Given the description of an element on the screen output the (x, y) to click on. 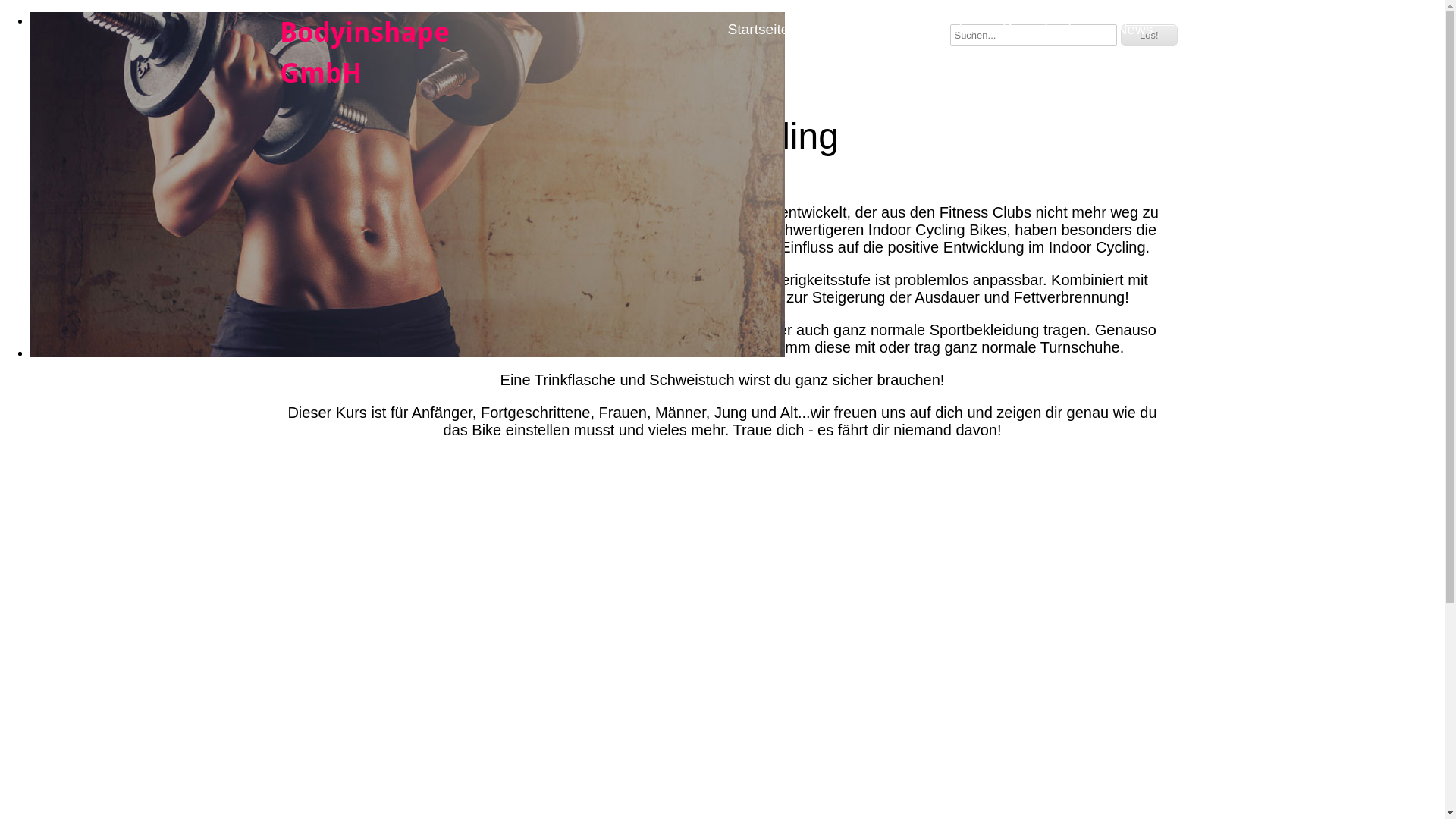
Bodyinshape
GmbH Element type: text (363, 53)
Preise / AGB Element type: text (855, 30)
Kursplan Element type: text (949, 30)
Los! Element type: text (1148, 35)
News Element type: text (1134, 30)
Startseite Element type: text (757, 30)
Kurse buchen Element type: text (1047, 30)
